Given the description of an element on the screen output the (x, y) to click on. 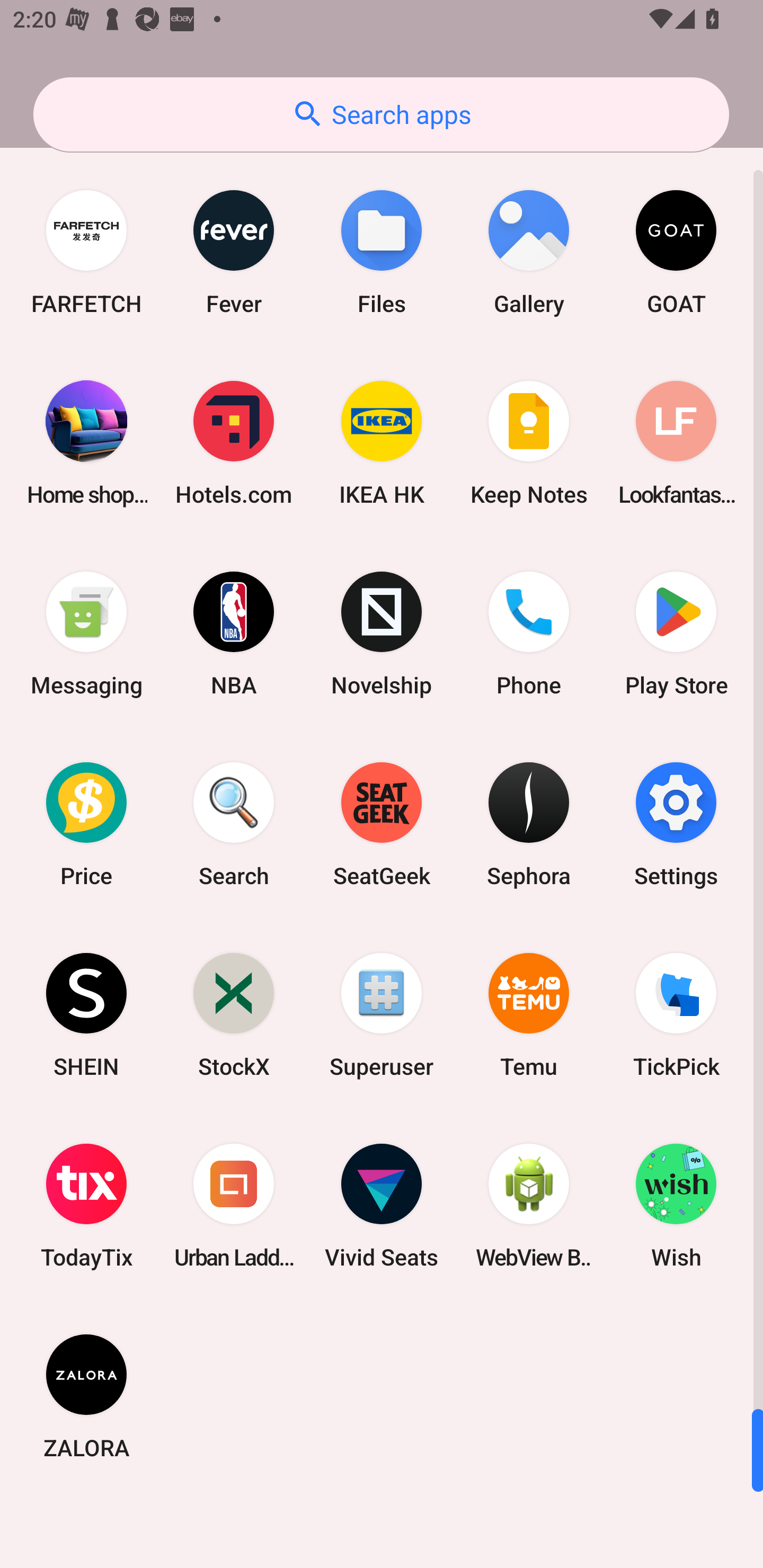
  Search apps (381, 114)
FARFETCH (86, 252)
Fever (233, 252)
Files (381, 252)
Gallery (528, 252)
GOAT (676, 252)
Home shopping (86, 442)
Hotels.com (233, 442)
IKEA HK (381, 442)
Keep Notes (528, 442)
Lookfantastic (676, 442)
Messaging (86, 633)
NBA (233, 633)
Novelship (381, 633)
Phone (528, 633)
Play Store (676, 633)
Price (86, 823)
Search (233, 823)
SeatGeek (381, 823)
Sephora (528, 823)
Settings (676, 823)
SHEIN (86, 1014)
StockX (233, 1014)
Superuser (381, 1014)
Temu (528, 1014)
TickPick (676, 1014)
TodayTix (86, 1205)
Urban Ladder (233, 1205)
Vivid Seats (381, 1205)
WebView Browser Tester (528, 1205)
Wish (676, 1205)
ZALORA (86, 1396)
